Given the description of an element on the screen output the (x, y) to click on. 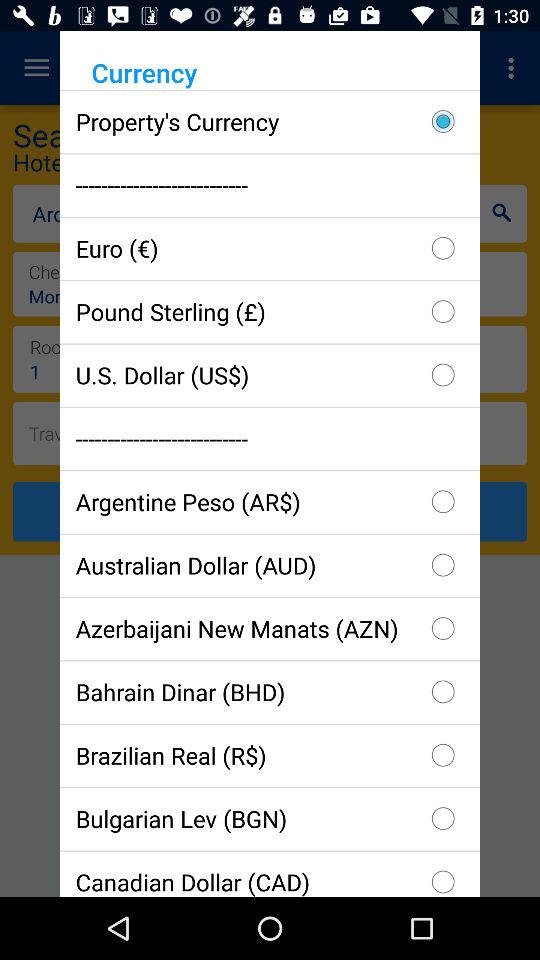
press checkbox above the brazilian real (r$) icon (270, 691)
